Given the description of an element on the screen output the (x, y) to click on. 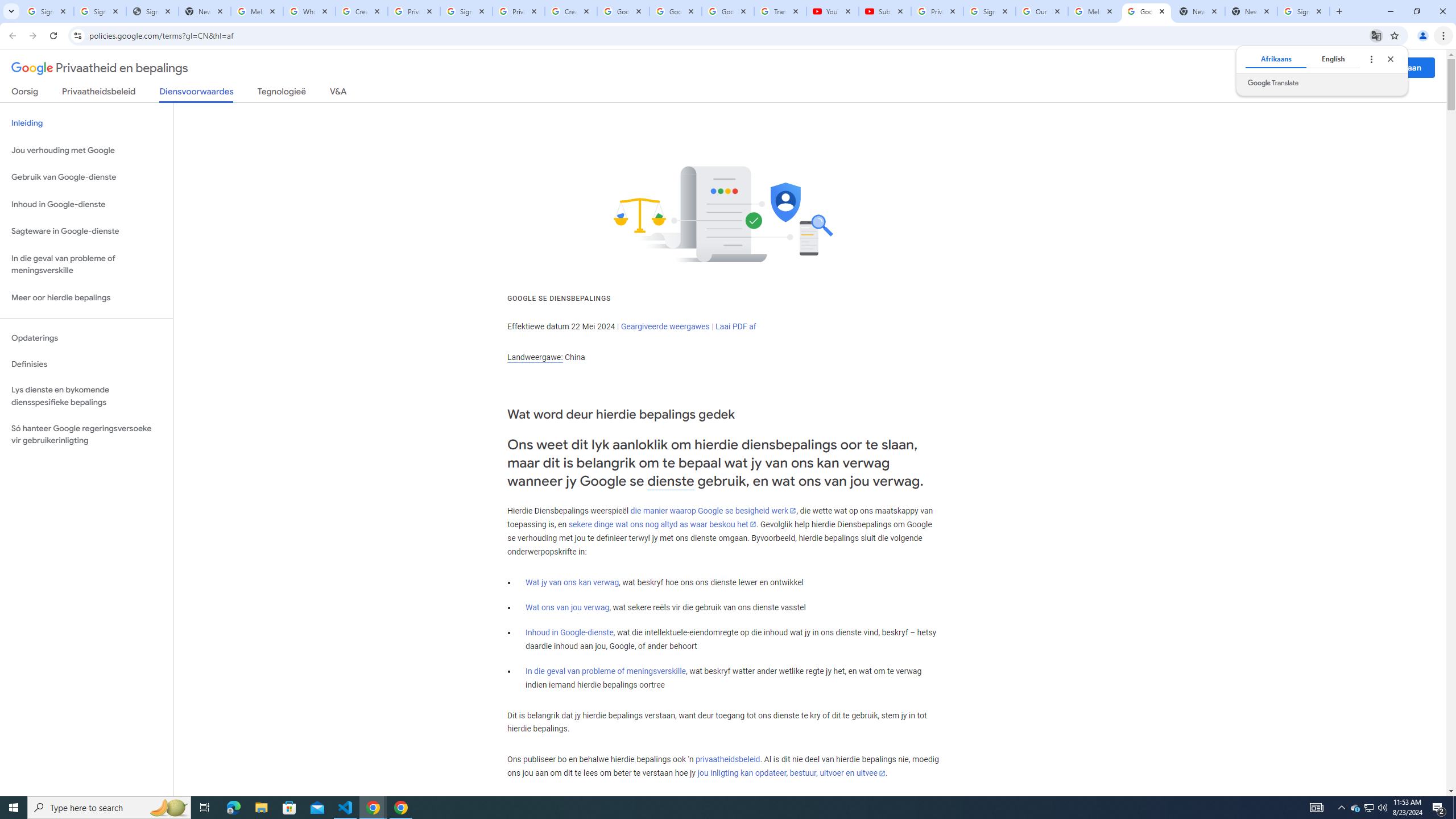
Subscriptions - YouTube (884, 11)
Landweergawe: (534, 357)
Lys dienste en bykomende diensspesifieke bepalings (86, 396)
sekere dinge wat ons nog altyd as waar beskou het (662, 524)
Privaatheid en bepalings (99, 68)
Who is my administrator? - Google Account Help (309, 11)
Wat jy van ons kan verwag (571, 582)
Inhoud in Google-dienste (568, 632)
V&A (337, 93)
